Given the description of an element on the screen output the (x, y) to click on. 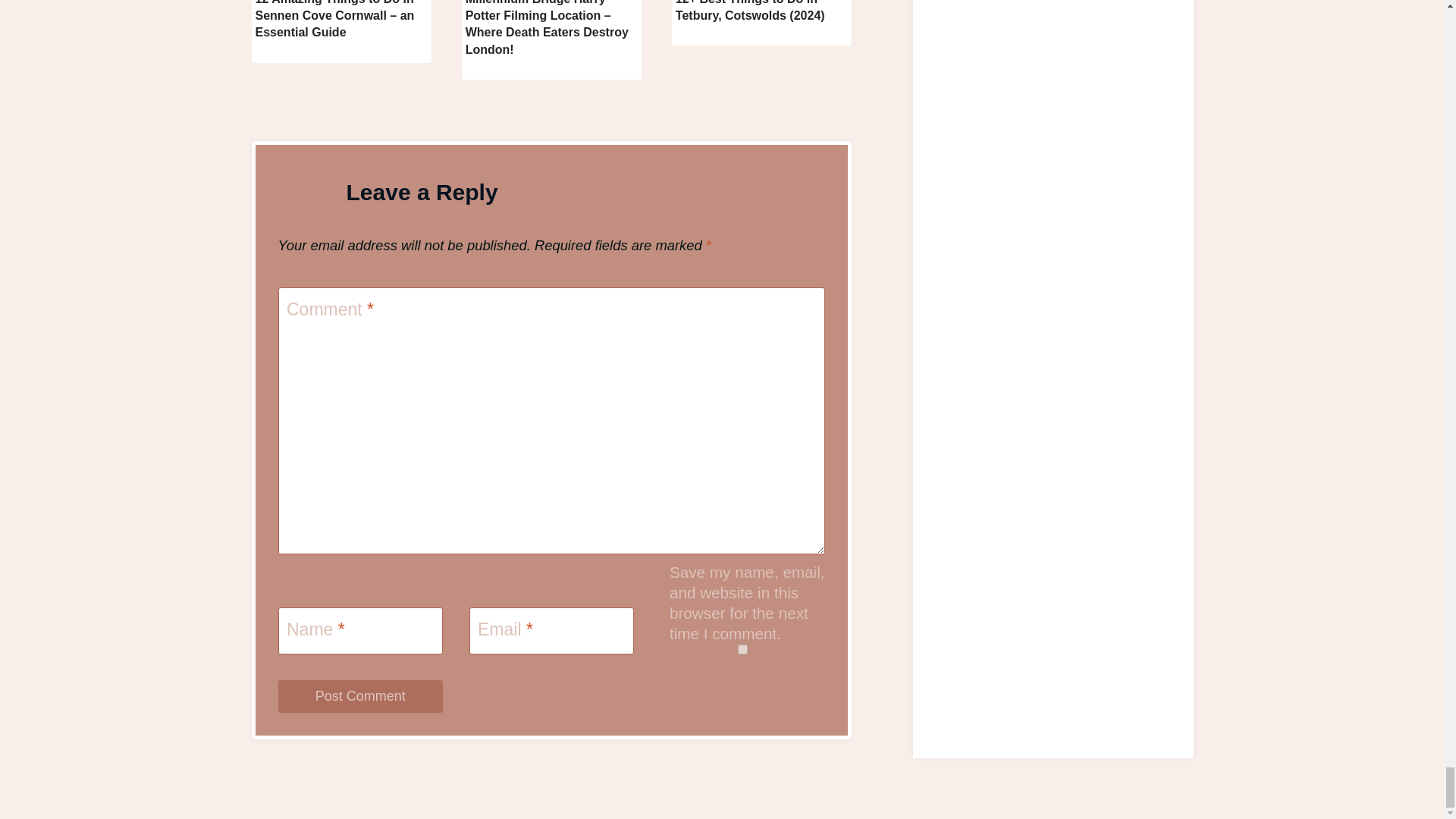
yes (742, 649)
Post Comment (360, 696)
